Given the description of an element on the screen output the (x, y) to click on. 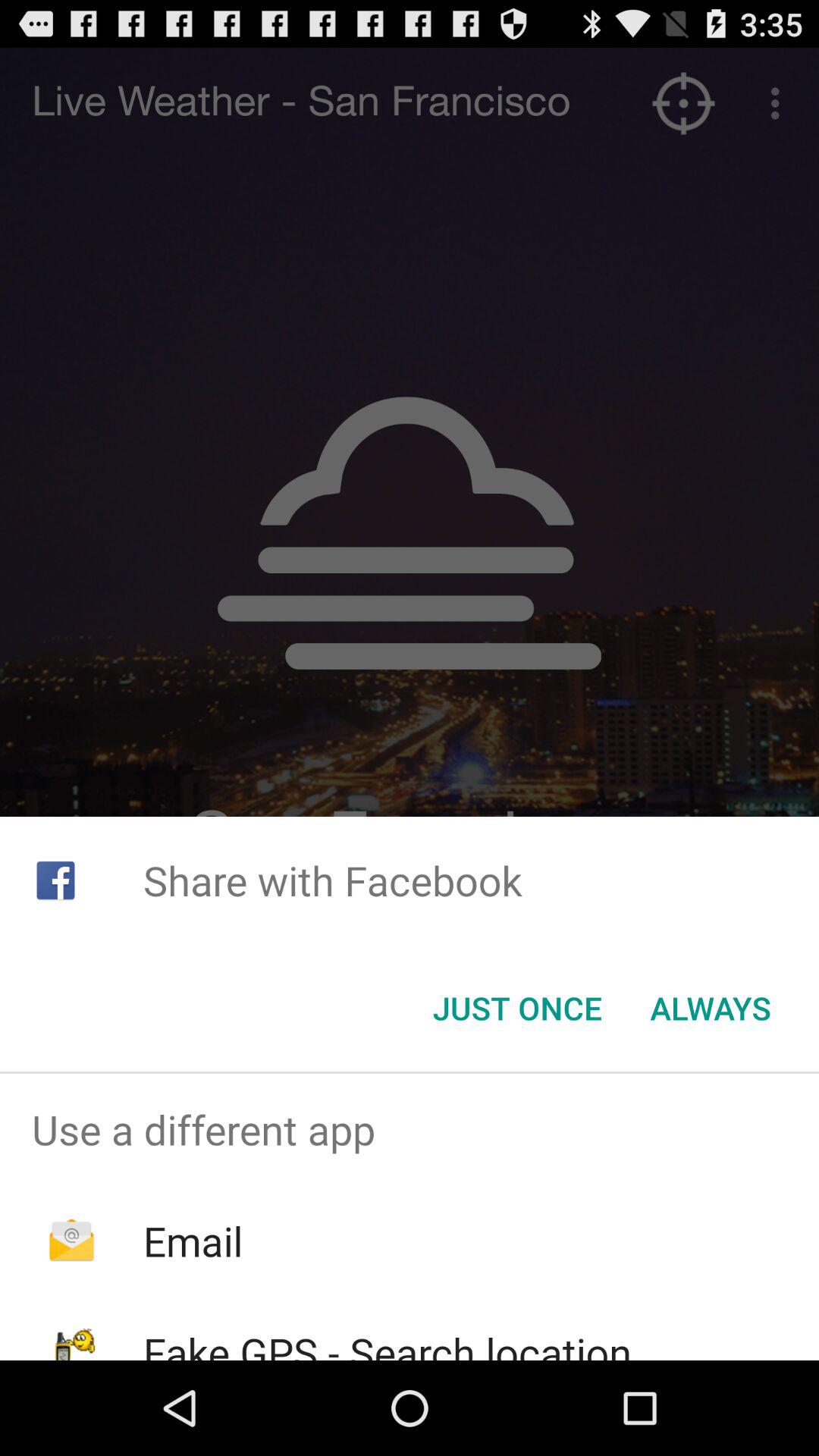
click item below the use a different icon (192, 1240)
